Given the description of an element on the screen output the (x, y) to click on. 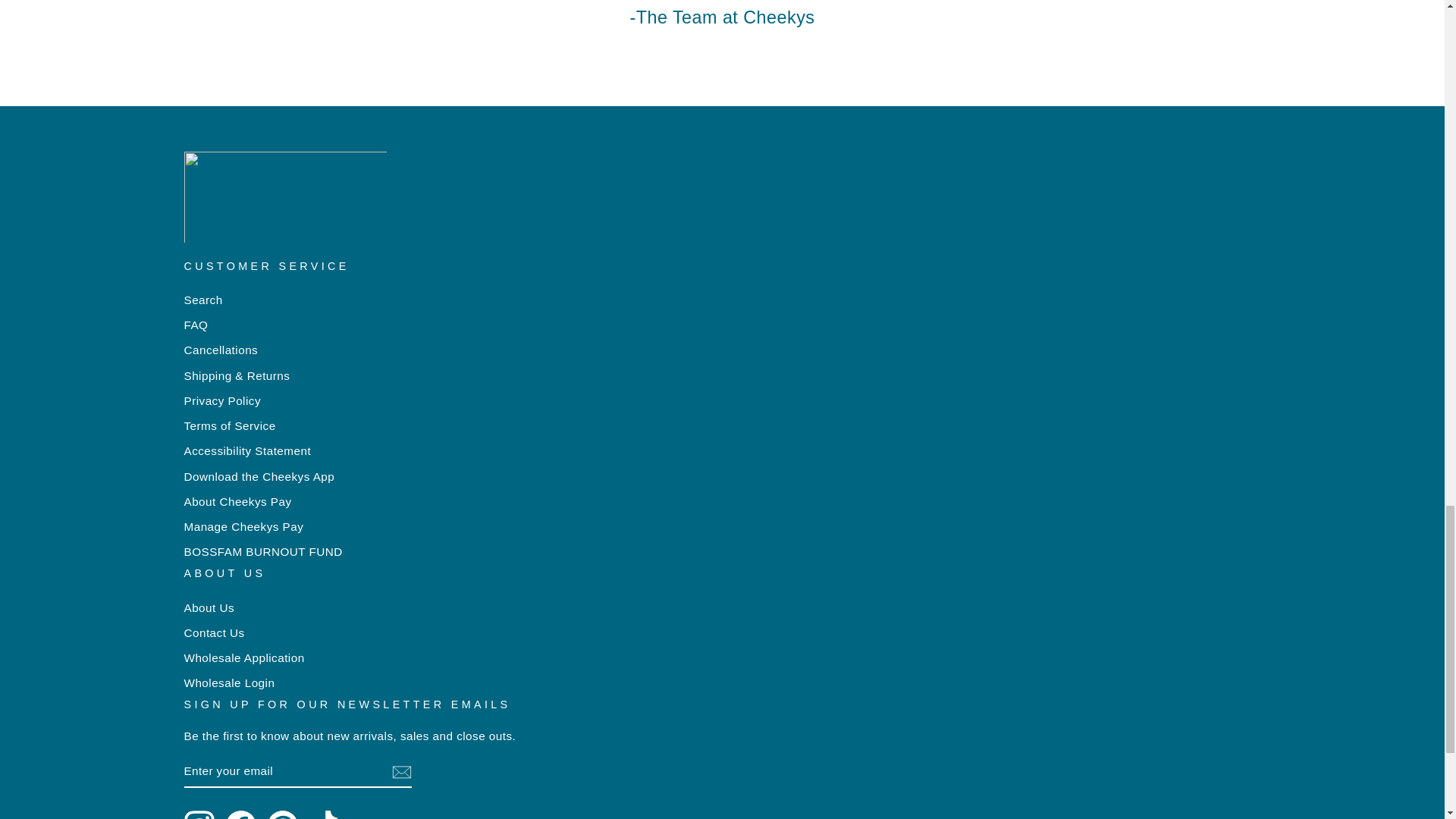
Cheekys Brand on Facebook (240, 814)
Cheekys Brand on Instagram (198, 814)
Cheekys Brand on TikTok (323, 814)
Cheekys Brand on Pinterest (281, 814)
